Given the description of an element on the screen output the (x, y) to click on. 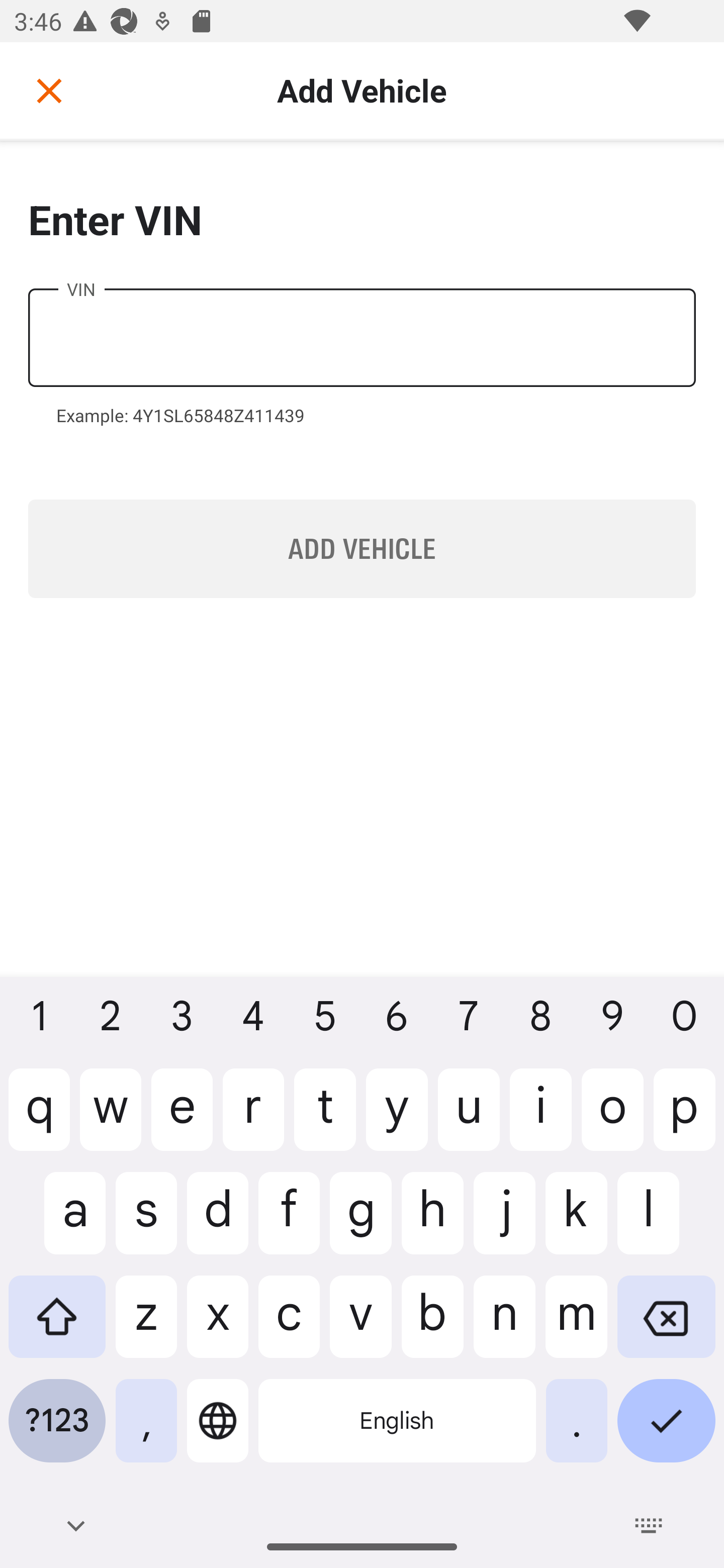
Go back  (49, 89)
VIN vin (361, 337)
ADD VEHICLE (361, 548)
